Given the description of an element on the screen output the (x, y) to click on. 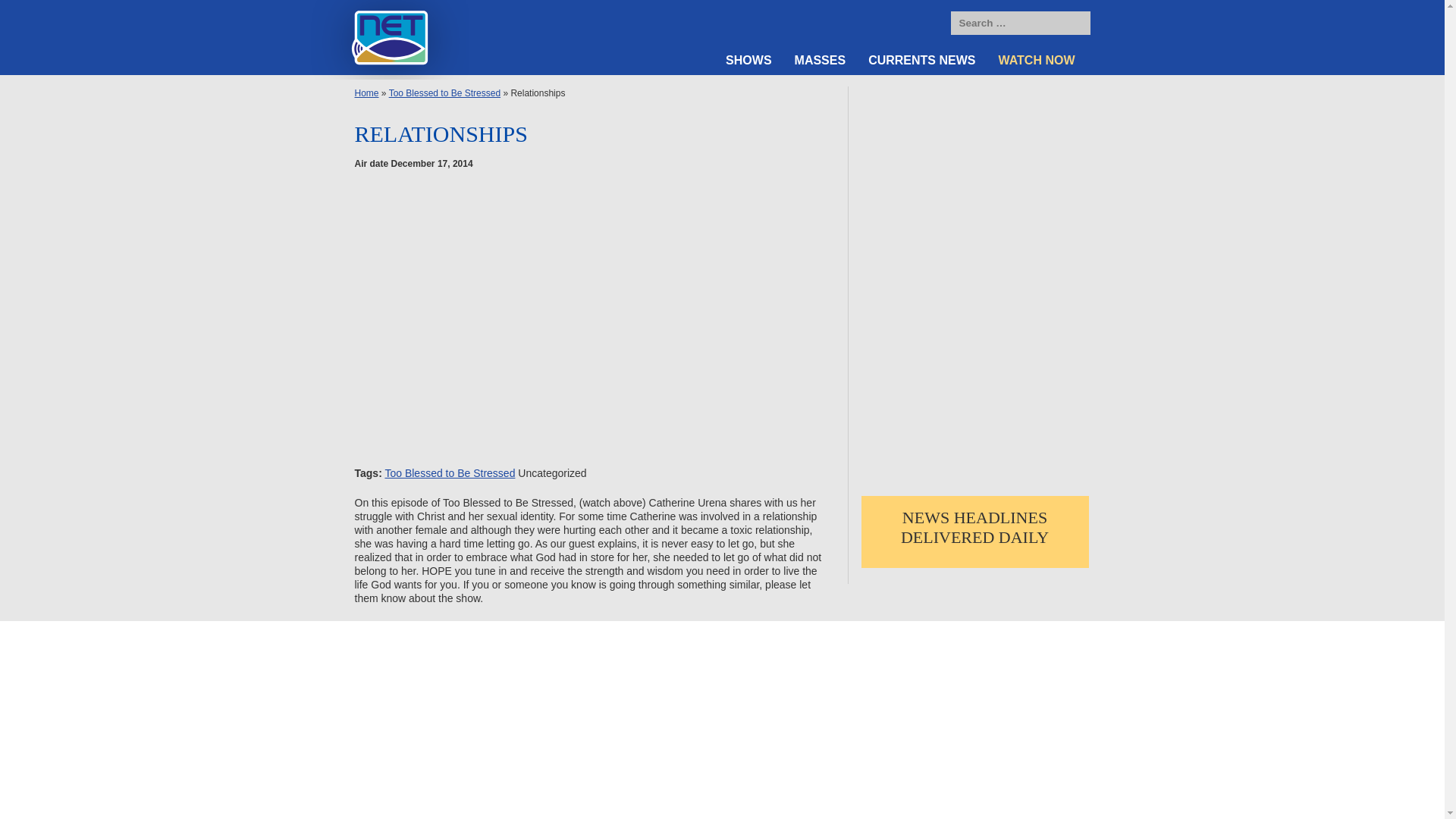
SHOWS (748, 60)
Search (1075, 23)
Search (1075, 23)
Home (366, 92)
Search (1075, 23)
CURRENTS NEWS (922, 60)
Too Blessed to Be Stressed (444, 92)
Too Blessed to Be Stressed (449, 472)
WATCH NOW (1038, 60)
MASSES (820, 60)
